Given the description of an element on the screen output the (x, y) to click on. 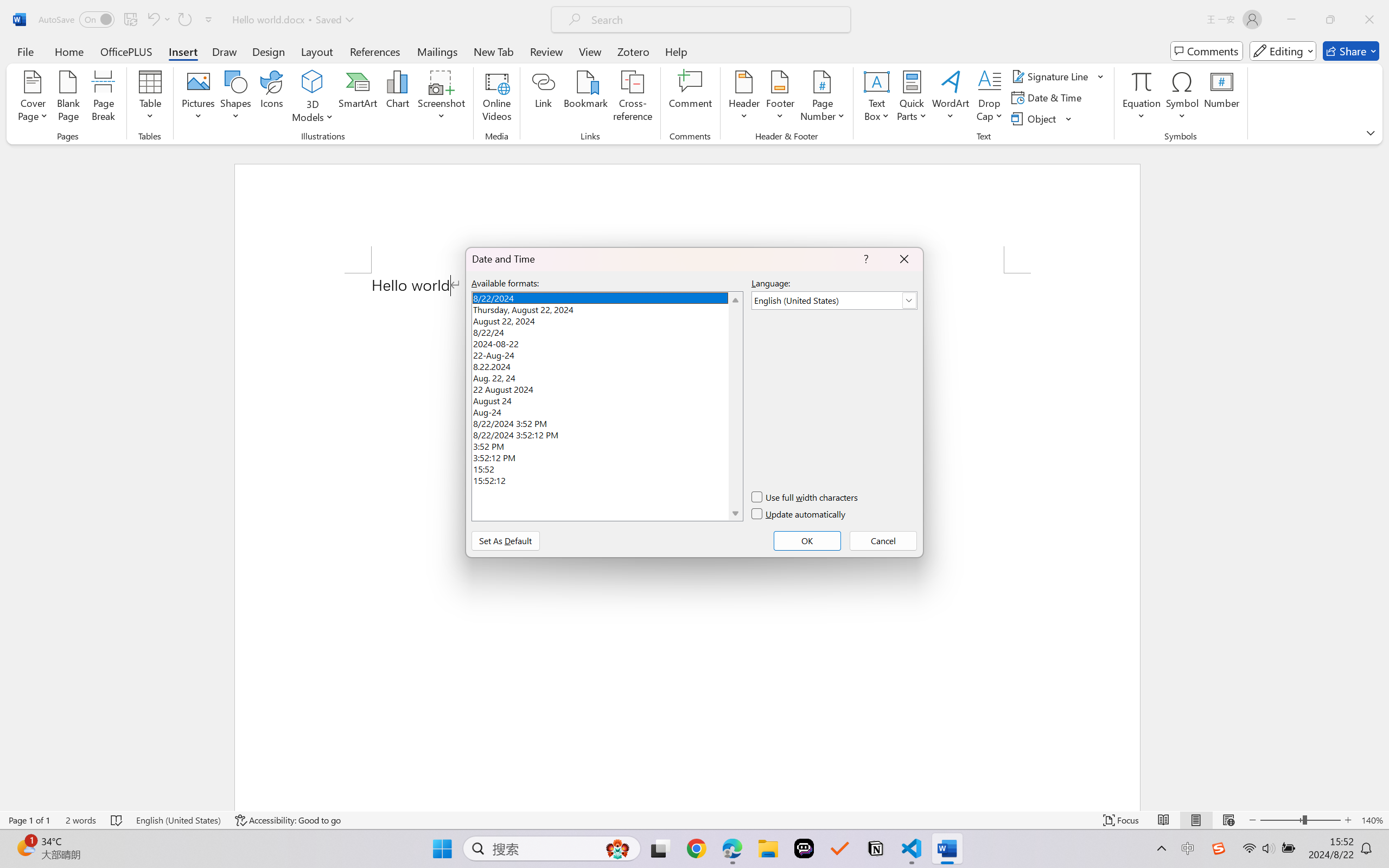
Page Number Page 1 of 1 (29, 819)
Shapes (235, 97)
15:52:12 (606, 479)
Class: Image (1218, 847)
Set As Default (505, 540)
Aug-24 (606, 410)
August 22, 2024 (606, 319)
15:52 (606, 467)
Ribbon Display Options (1370, 132)
AutomationID: BadgeAnchorLargeTicker (24, 847)
Comment (689, 97)
Language English (United States) (178, 819)
